Given the description of an element on the screen output the (x, y) to click on. 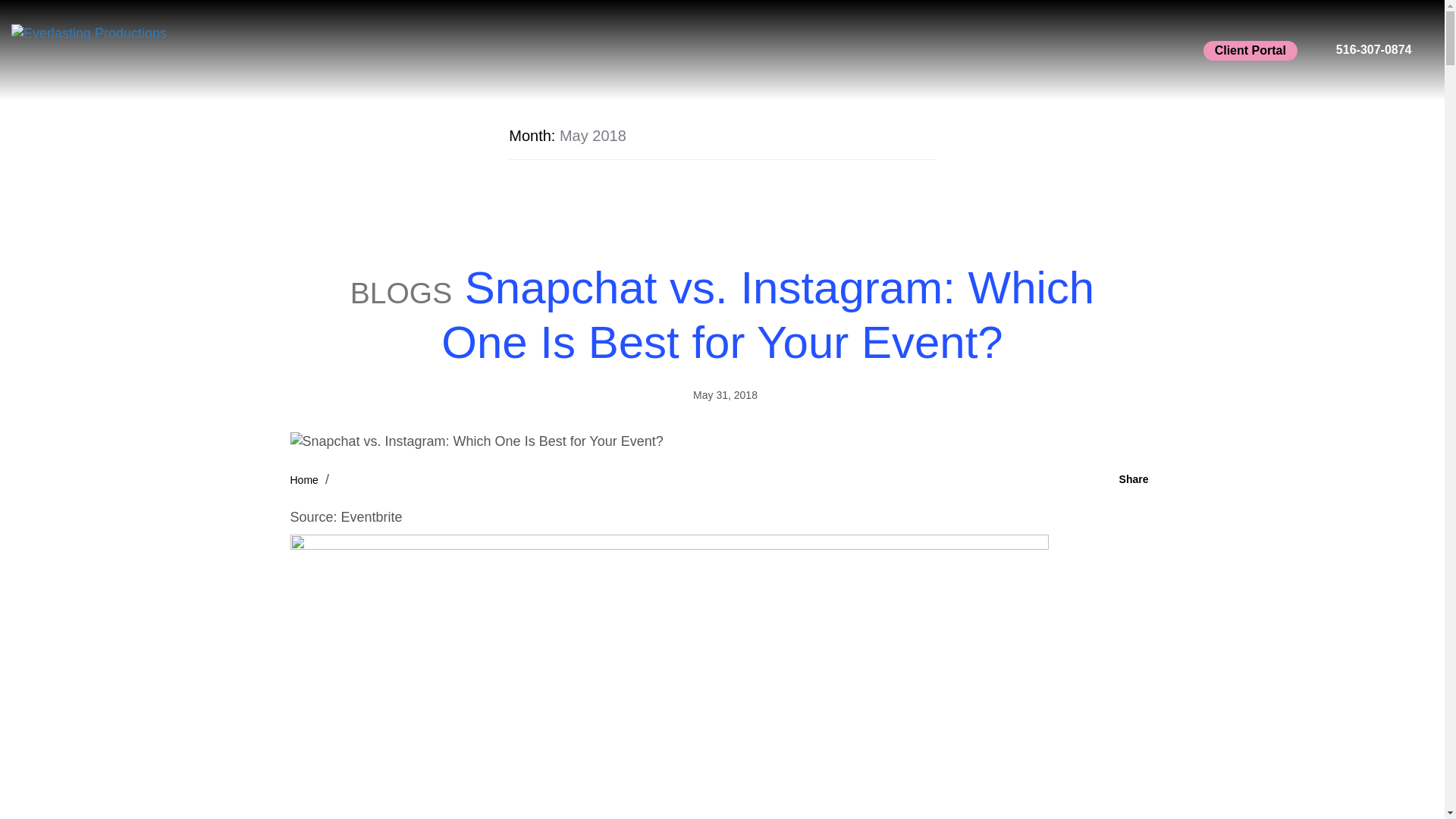
Client Portal (1250, 50)
516-307-0874 (1373, 50)
Home (303, 480)
